Given the description of an element on the screen output the (x, y) to click on. 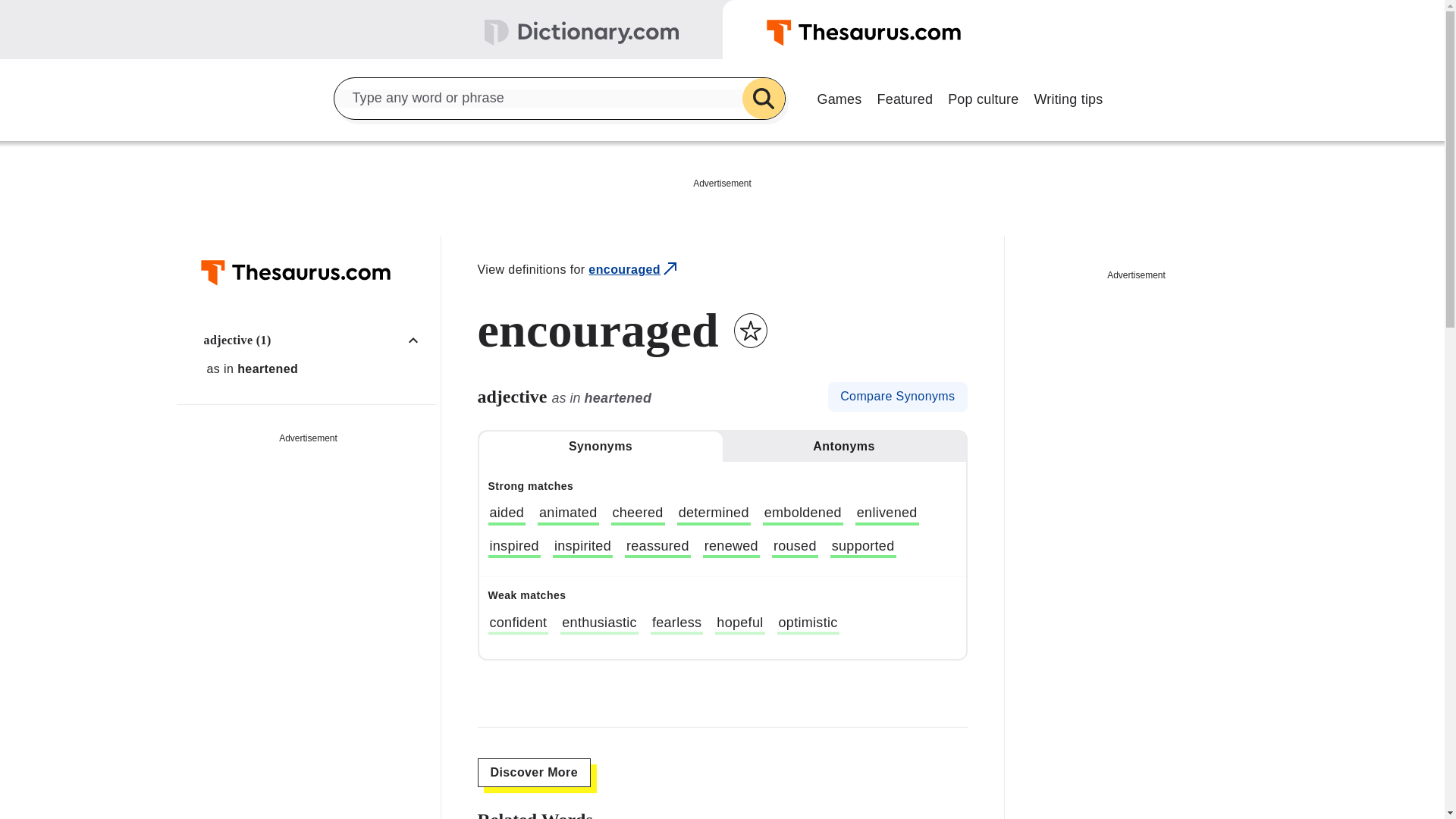
Synonyms (600, 446)
Pop culture (983, 97)
Compare Synonyms (897, 396)
encouraged (633, 270)
aided (506, 514)
animated (567, 514)
as in heartened (316, 369)
Featured (904, 97)
Writing tips (1067, 97)
Antonyms (843, 446)
